Given the description of an element on the screen output the (x, y) to click on. 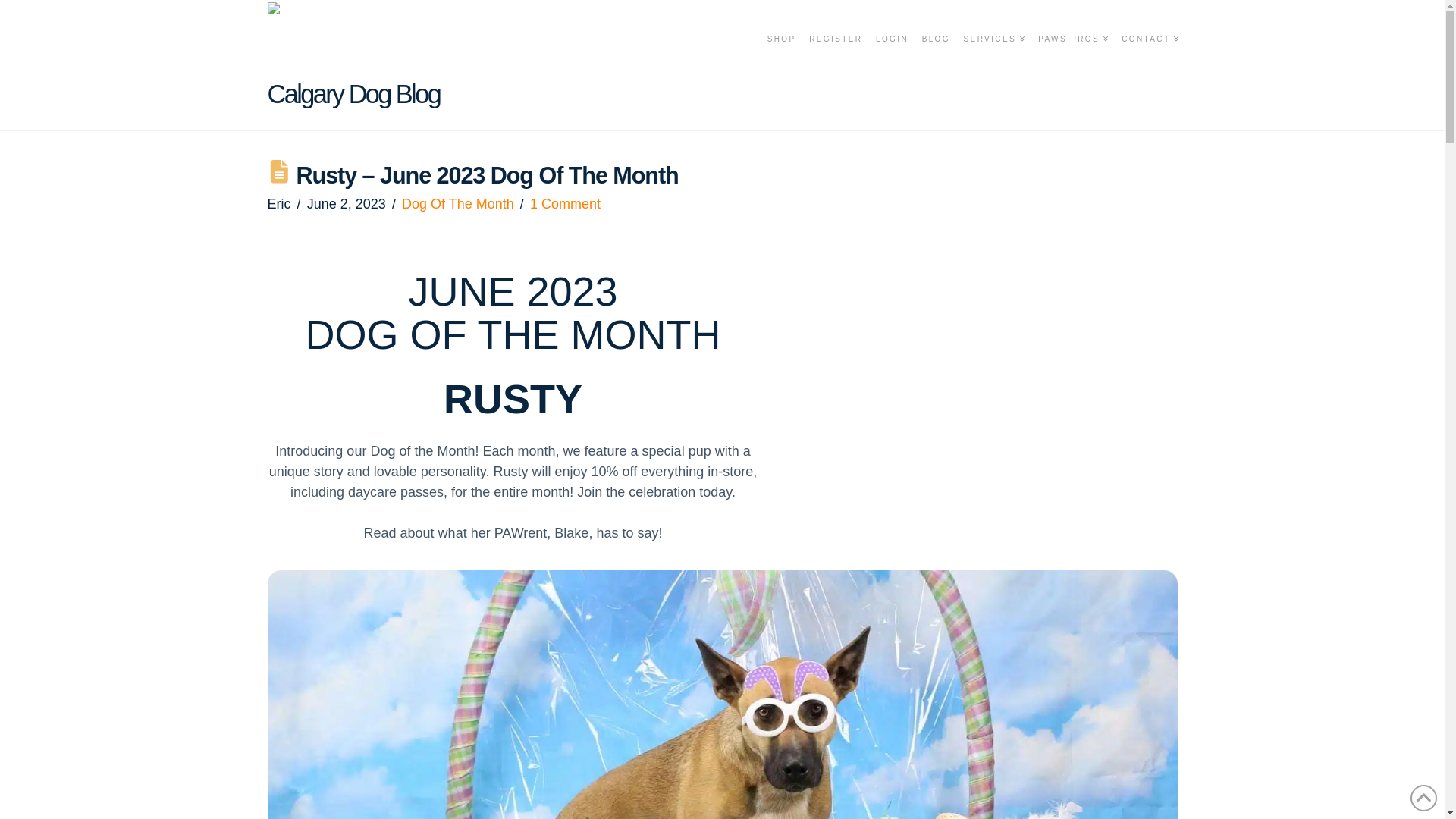
SERVICES (993, 58)
LOGIN (890, 58)
SHOP (781, 58)
CONTACT (1144, 58)
REGISTER (834, 58)
PAWS PROS (1071, 58)
BLOG (935, 58)
